Given the description of an element on the screen output the (x, y) to click on. 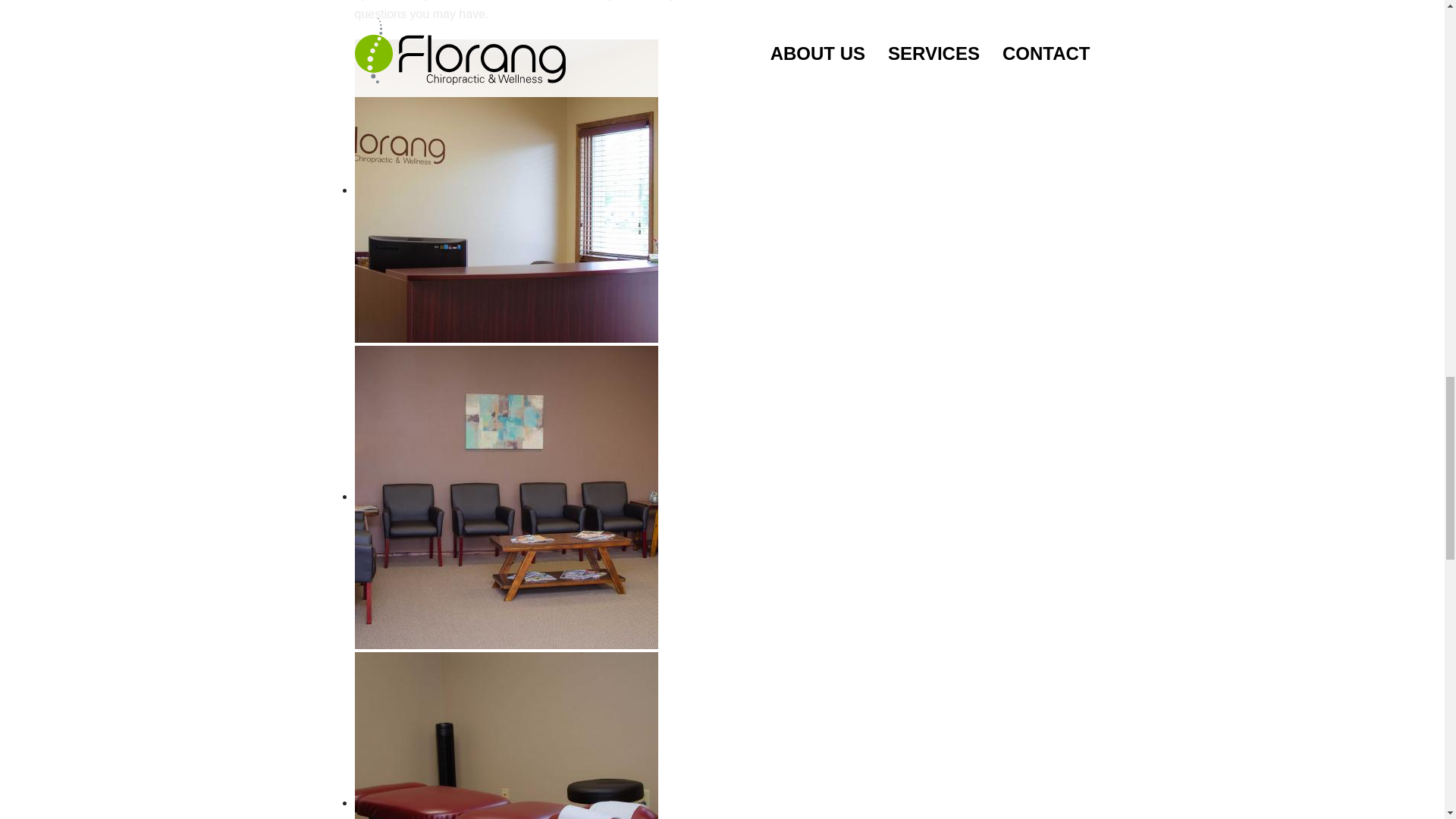
Front Desk (506, 189)
Waiting area (506, 495)
Chiropractic Table (506, 802)
